Given the description of an element on the screen output the (x, y) to click on. 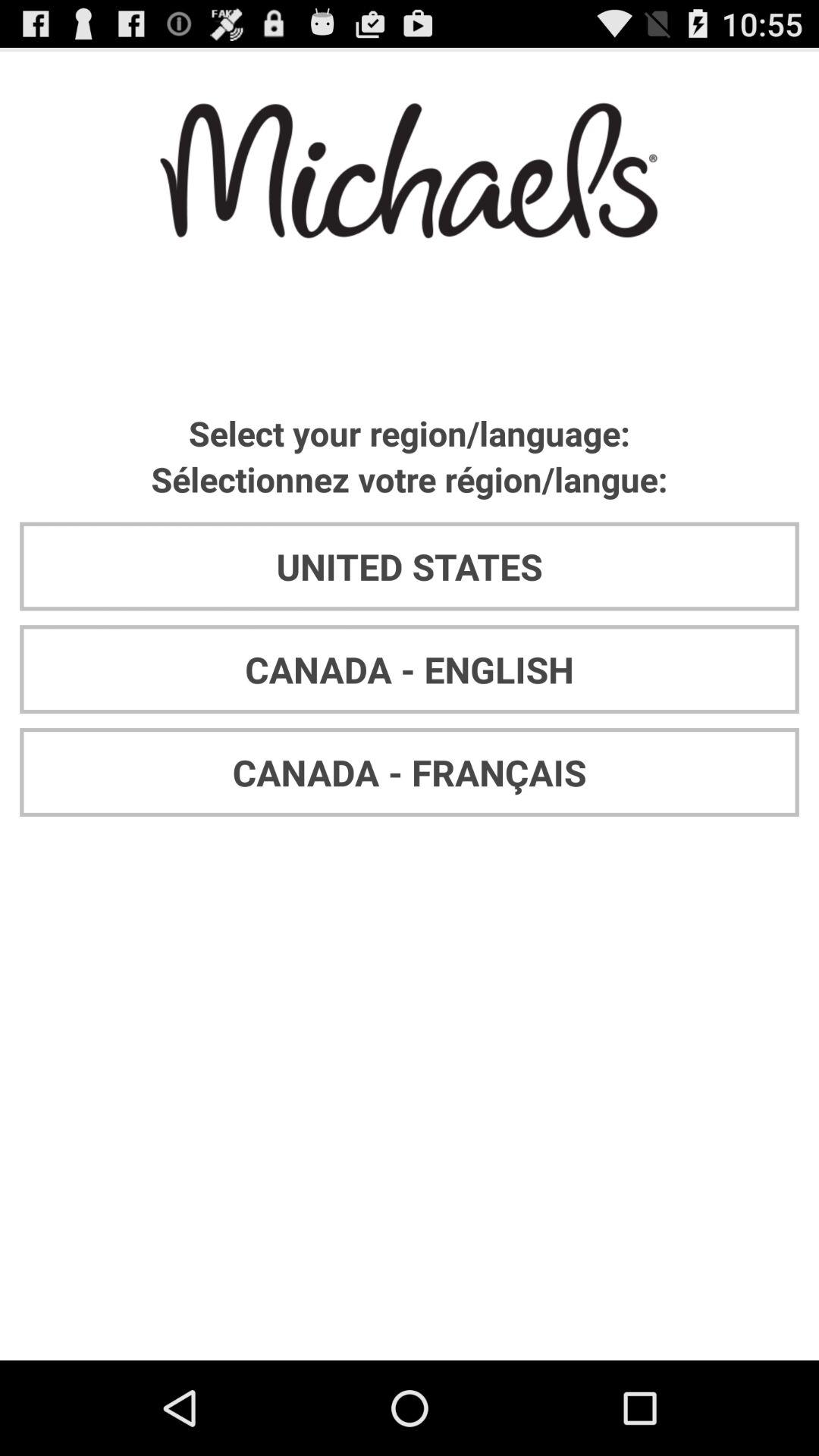
click the item below united states (409, 669)
